Given the description of an element on the screen output the (x, y) to click on. 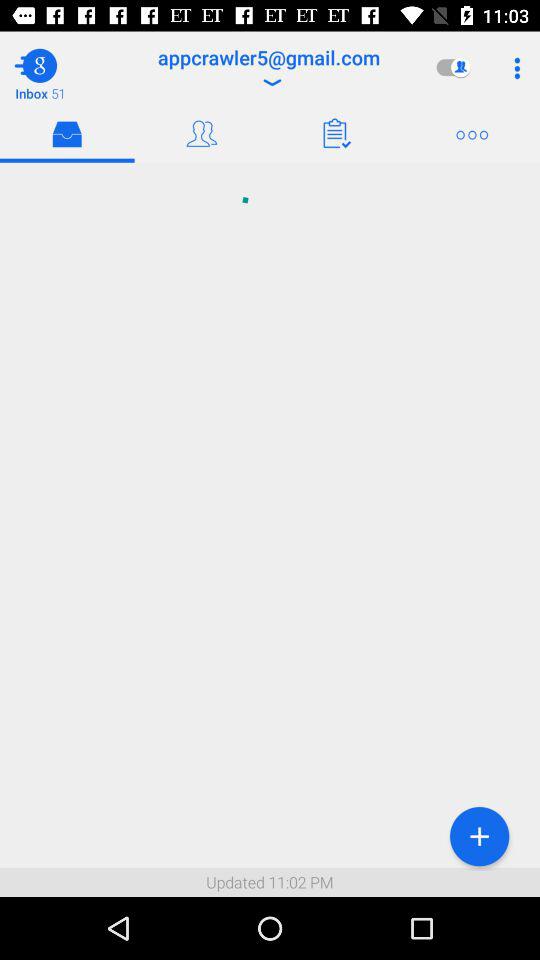
press the item to the right of updated 11 02 icon (479, 836)
